Given the description of an element on the screen output the (x, y) to click on. 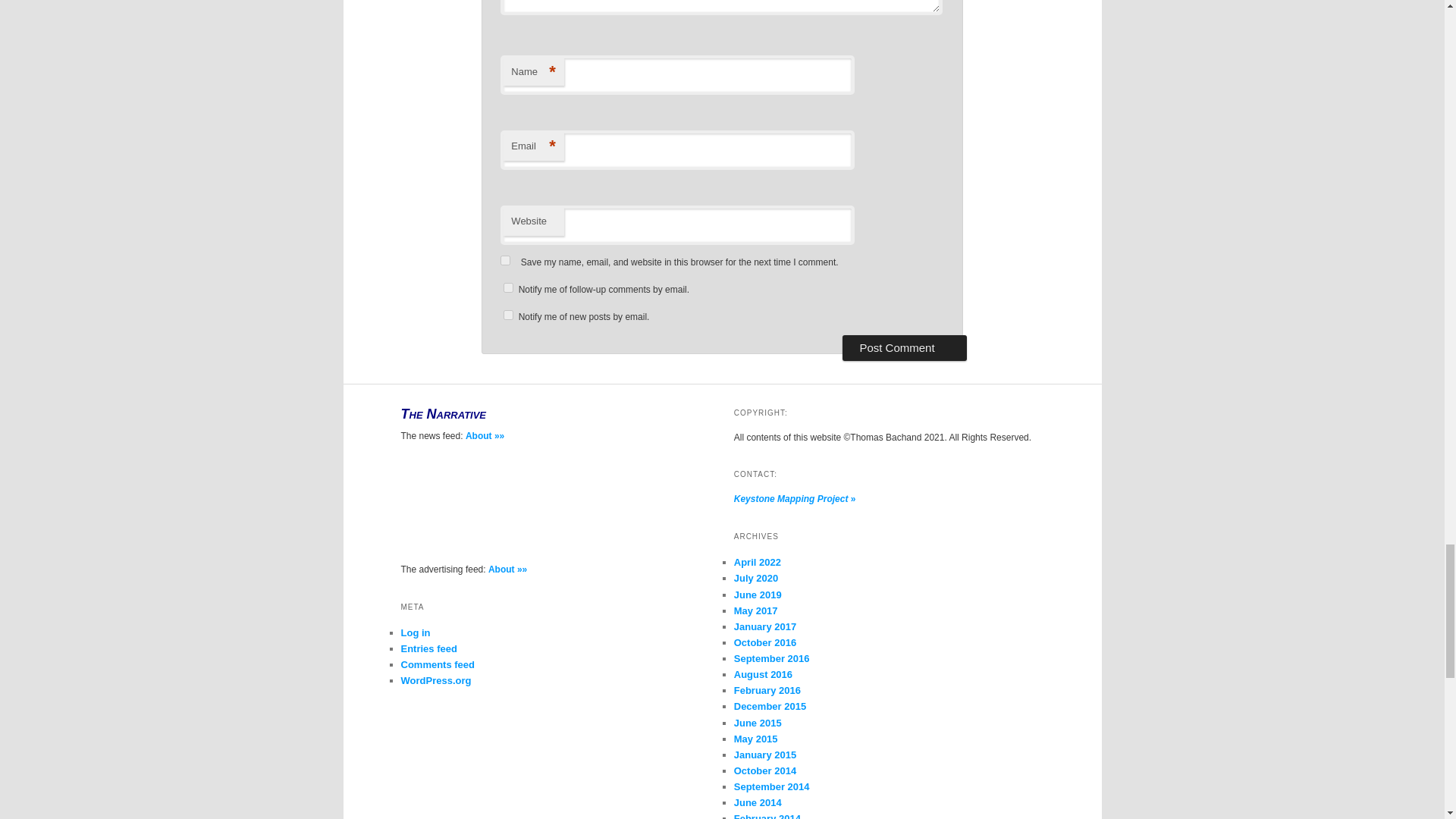
subscribe (508, 315)
subscribe (508, 287)
yes (505, 260)
Post Comment (904, 347)
